Given the description of an element on the screen output the (x, y) to click on. 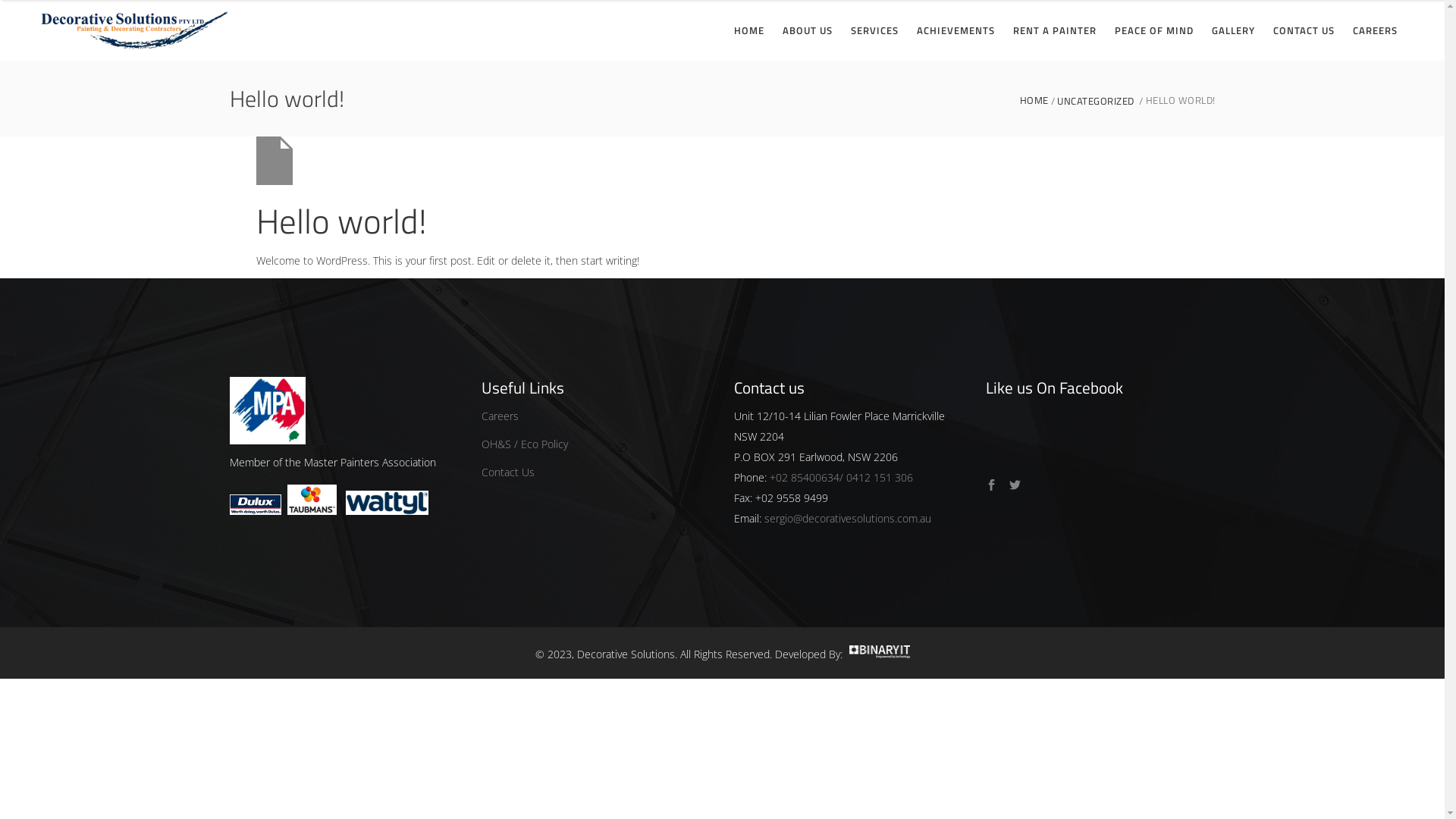
ABOUT US Element type: text (807, 30)
sergio@decorativesolutions.com.au Element type: text (847, 518)
0412 151 306 Element type: text (879, 477)
HOME Element type: text (1038, 100)
UNCATEGORIZED Element type: text (1095, 101)
CAREERS Element type: text (1374, 30)
OH&S / Eco Policy Element type: text (524, 443)
GALLERY Element type: text (1233, 30)
HOME Element type: text (748, 30)
CONTACT US Element type: text (1303, 30)
PEACE OF MIND Element type: text (1153, 30)
ACHIEVEMENTS Element type: text (955, 30)
+02 85400634/ Element type: text (805, 477)
Contact Us Element type: text (507, 471)
RENT A PAINTER Element type: text (1054, 30)
SERVICES Element type: text (874, 30)
Careers Element type: text (499, 415)
